Given the description of an element on the screen output the (x, y) to click on. 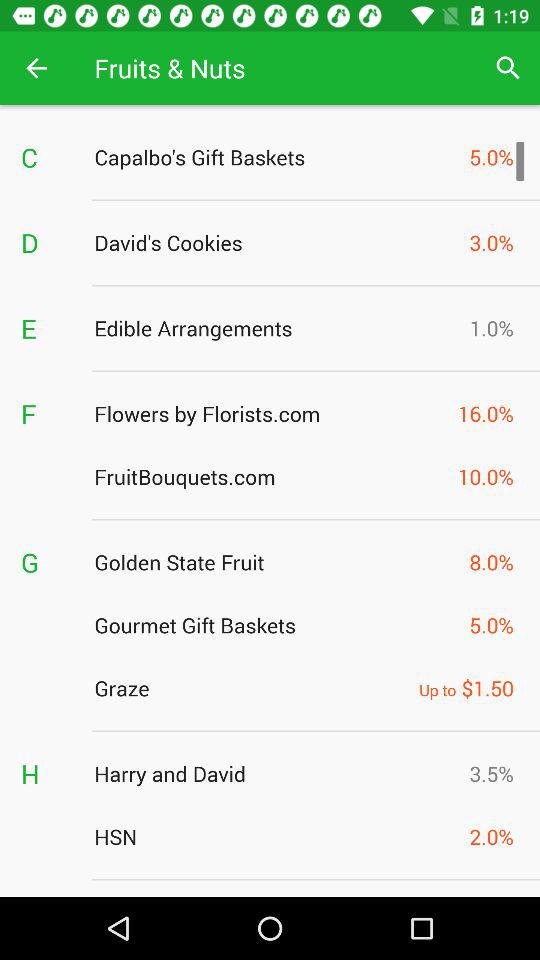
choose app to the right of the fruits & nuts icon (508, 67)
